Given the description of an element on the screen output the (x, y) to click on. 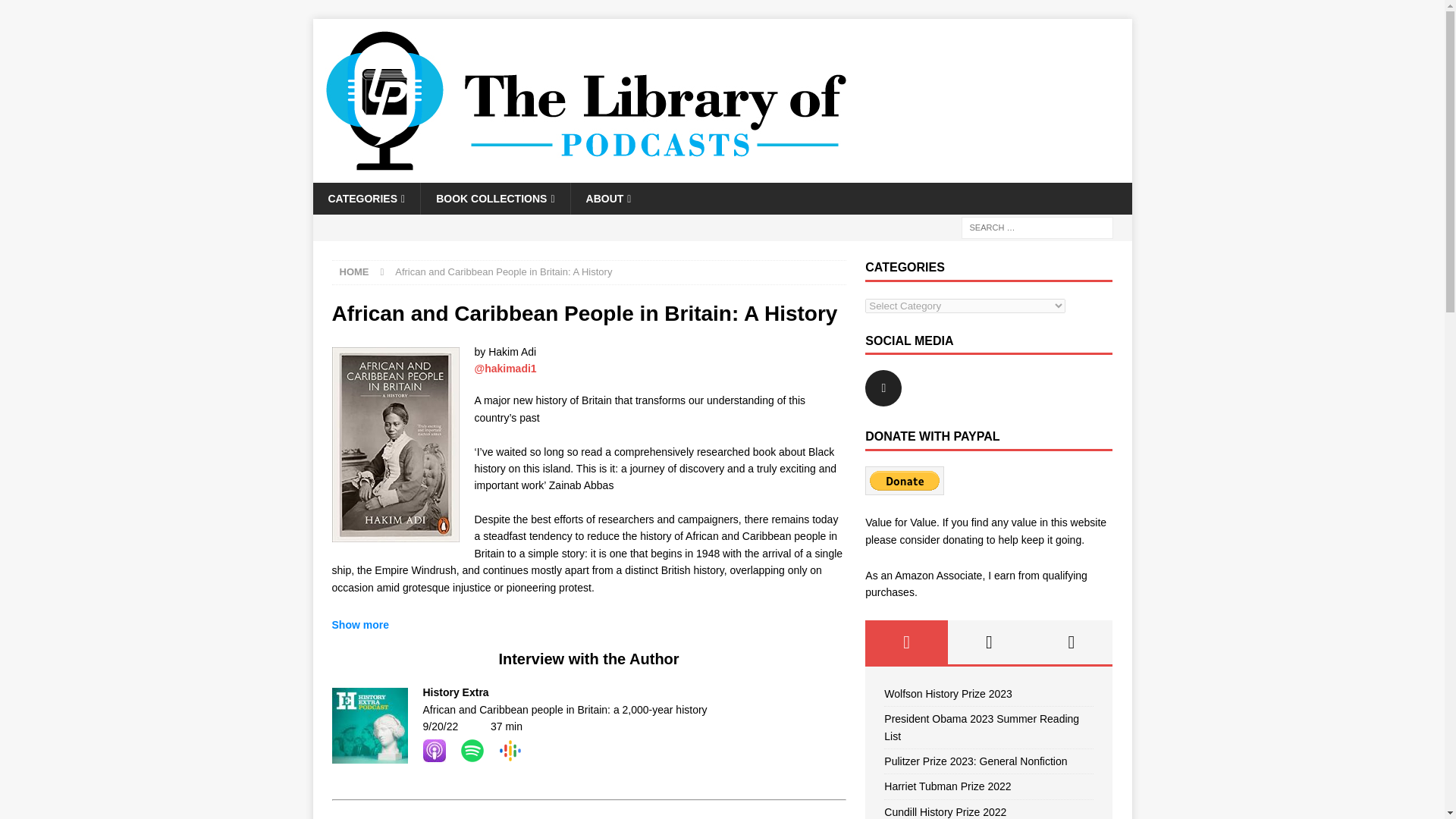
The Library of Podcasts (586, 174)
